Given the description of an element on the screen output the (x, y) to click on. 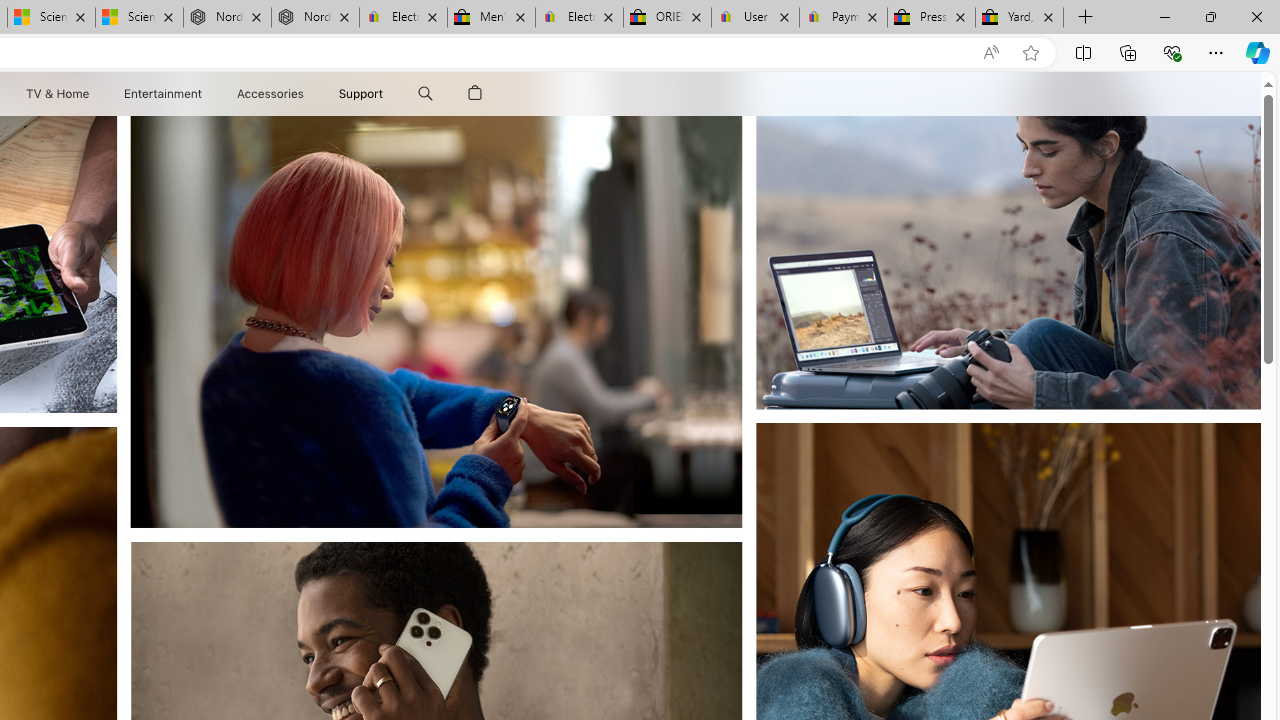
Entertainment menu (205, 93)
User Privacy Notice | eBay (754, 17)
Entertainment (162, 93)
Accessories (269, 93)
Search Support (425, 93)
Shopping Bag (475, 93)
